Given the description of an element on the screen output the (x, y) to click on. 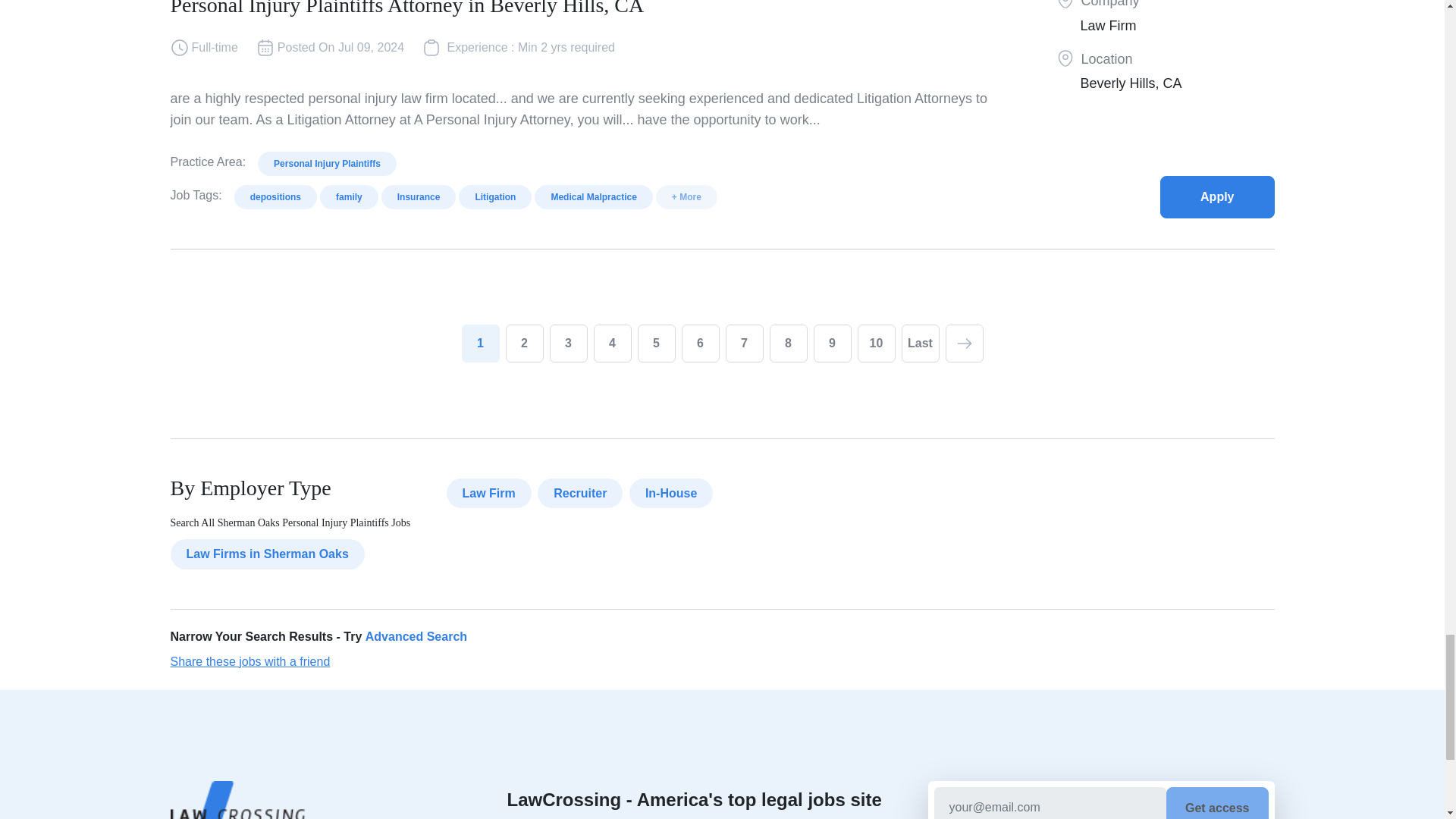
Personal Injury Plaintiffs Attorney in Beverly Hills, CA (1217, 196)
